Given the description of an element on the screen output the (x, y) to click on. 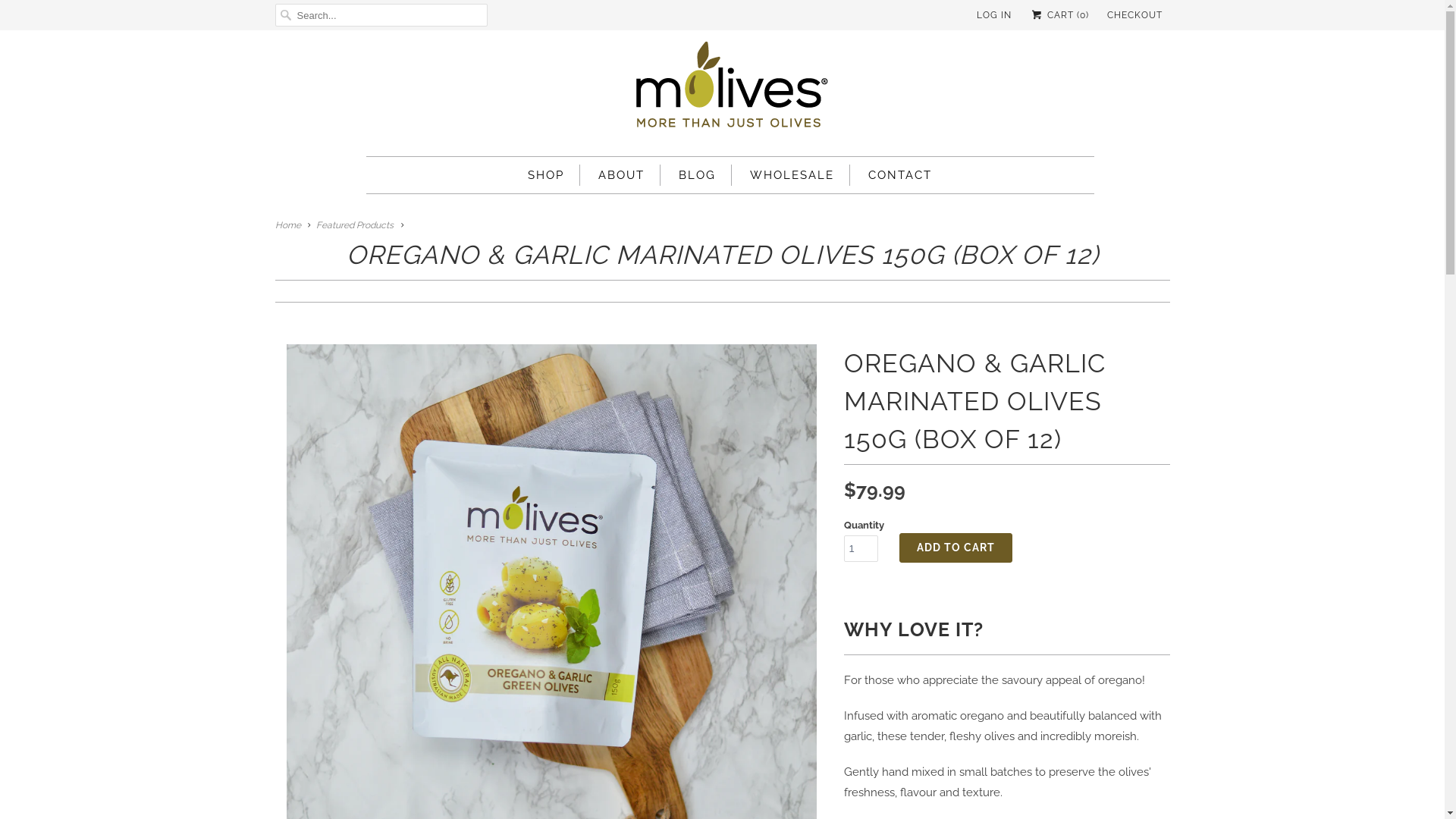
CART (0) Element type: text (1058, 14)
ADD TO CART Element type: text (955, 547)
CHECKOUT Element type: text (1134, 14)
LOG IN Element type: text (993, 14)
CONTACT Element type: text (899, 174)
Featured Products Element type: text (354, 224)
ABOUT Element type: text (621, 174)
Molives Element type: hover (729, 89)
BLOG Element type: text (696, 174)
Home Element type: text (287, 224)
SHOP Element type: text (545, 174)
WHOLESALE Element type: text (791, 174)
